Given the description of an element on the screen output the (x, y) to click on. 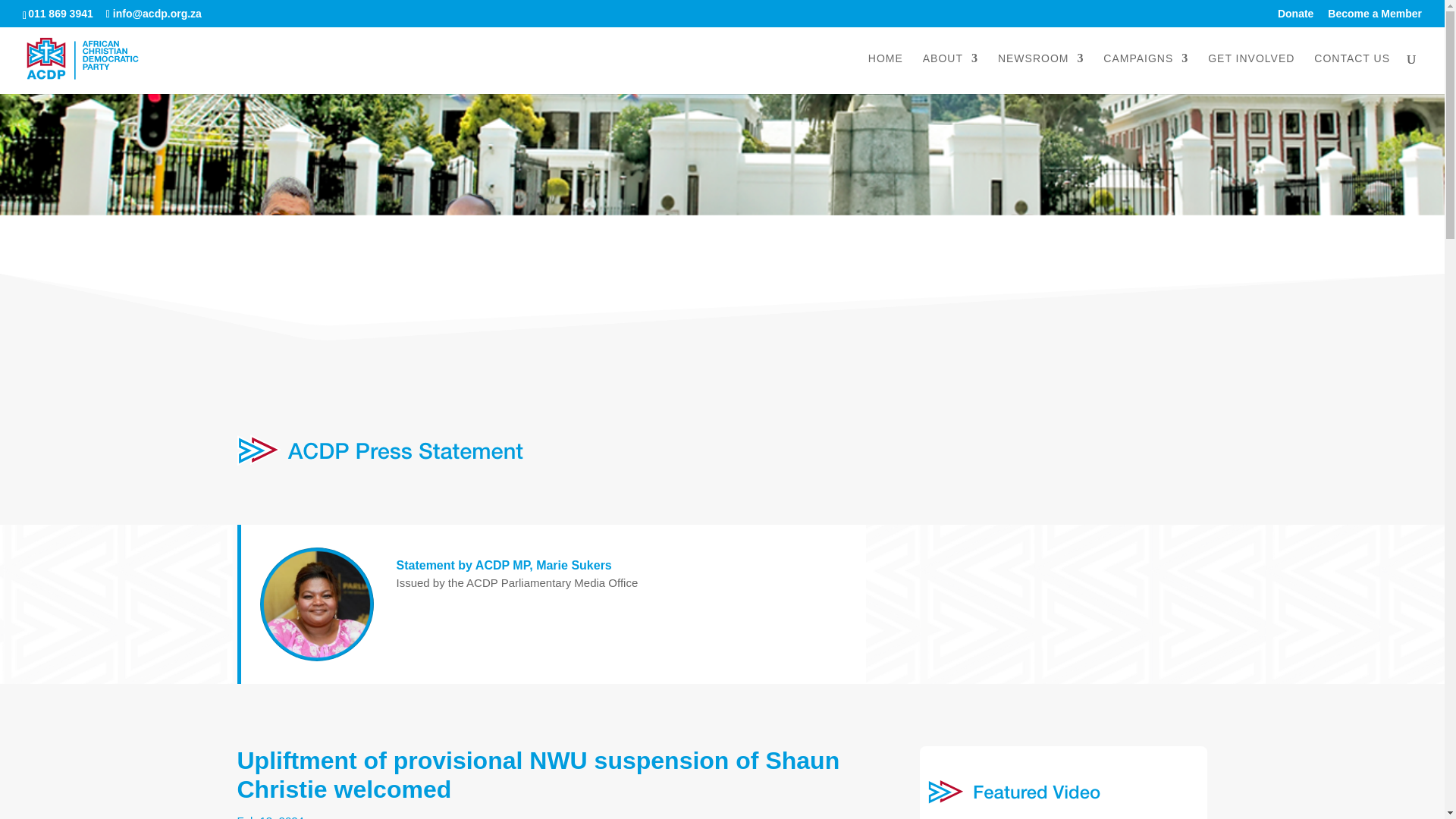
Donate (1295, 16)
ABOUT (950, 73)
NEWSROOM (1040, 73)
CONTACT US (1352, 73)
GET INVOLVED (1251, 73)
Become a Member (1374, 16)
CAMPAIGNS (1145, 73)
